Given the description of an element on the screen output the (x, y) to click on. 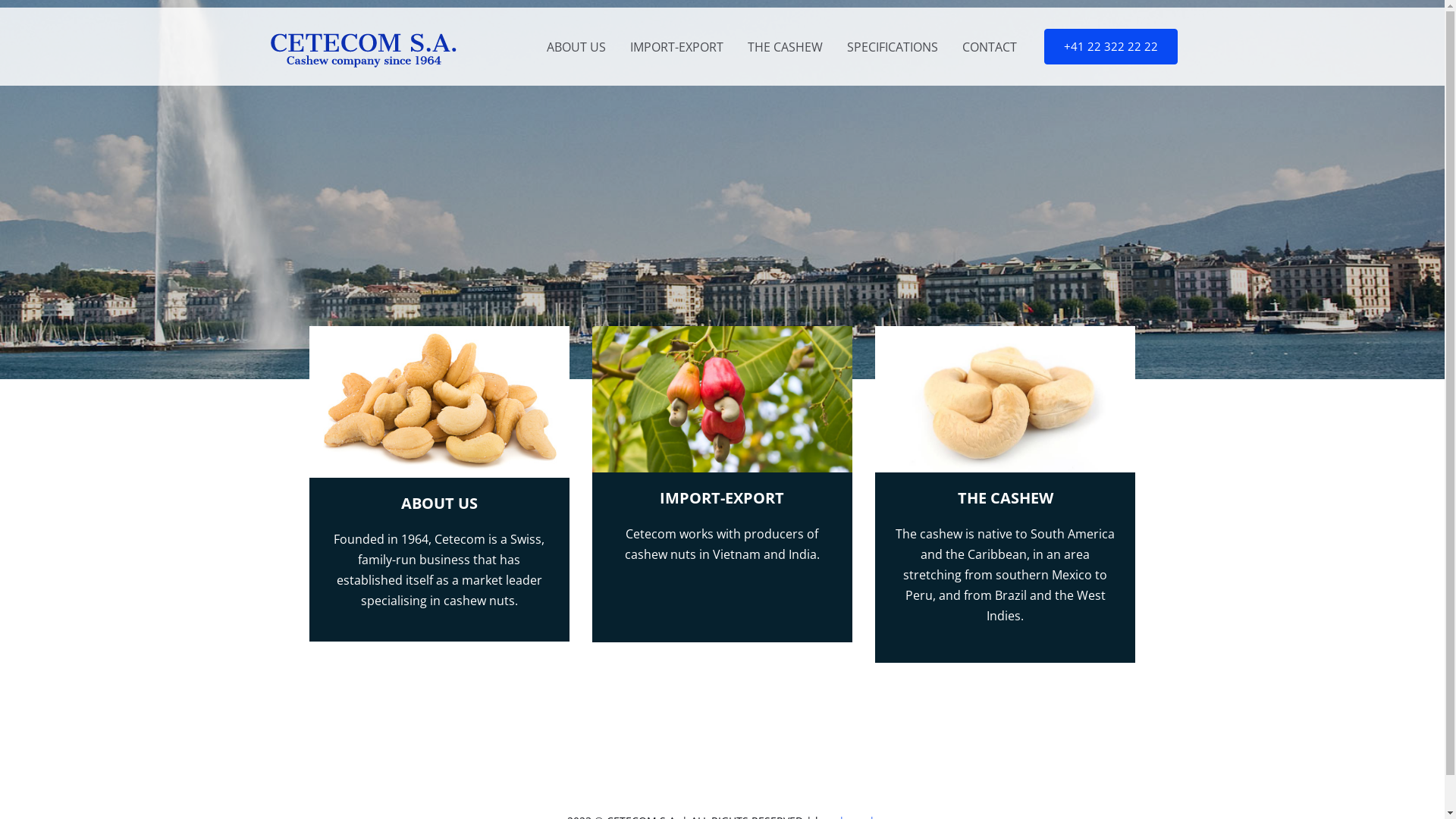
THE CASHEW Element type: text (1005, 497)
IMPORT-EXPORT Element type: text (721, 497)
ABOUT US Element type: text (439, 502)
SPECIFICATIONS Element type: text (891, 45)
+41 22 322 22 22 Element type: text (1109, 46)
ABOUT US Element type: text (575, 45)
CONTACT Element type: text (988, 45)
THE CASHEW Element type: text (784, 45)
IMPORT-EXPORT Element type: text (675, 45)
